Given the description of an element on the screen output the (x, y) to click on. 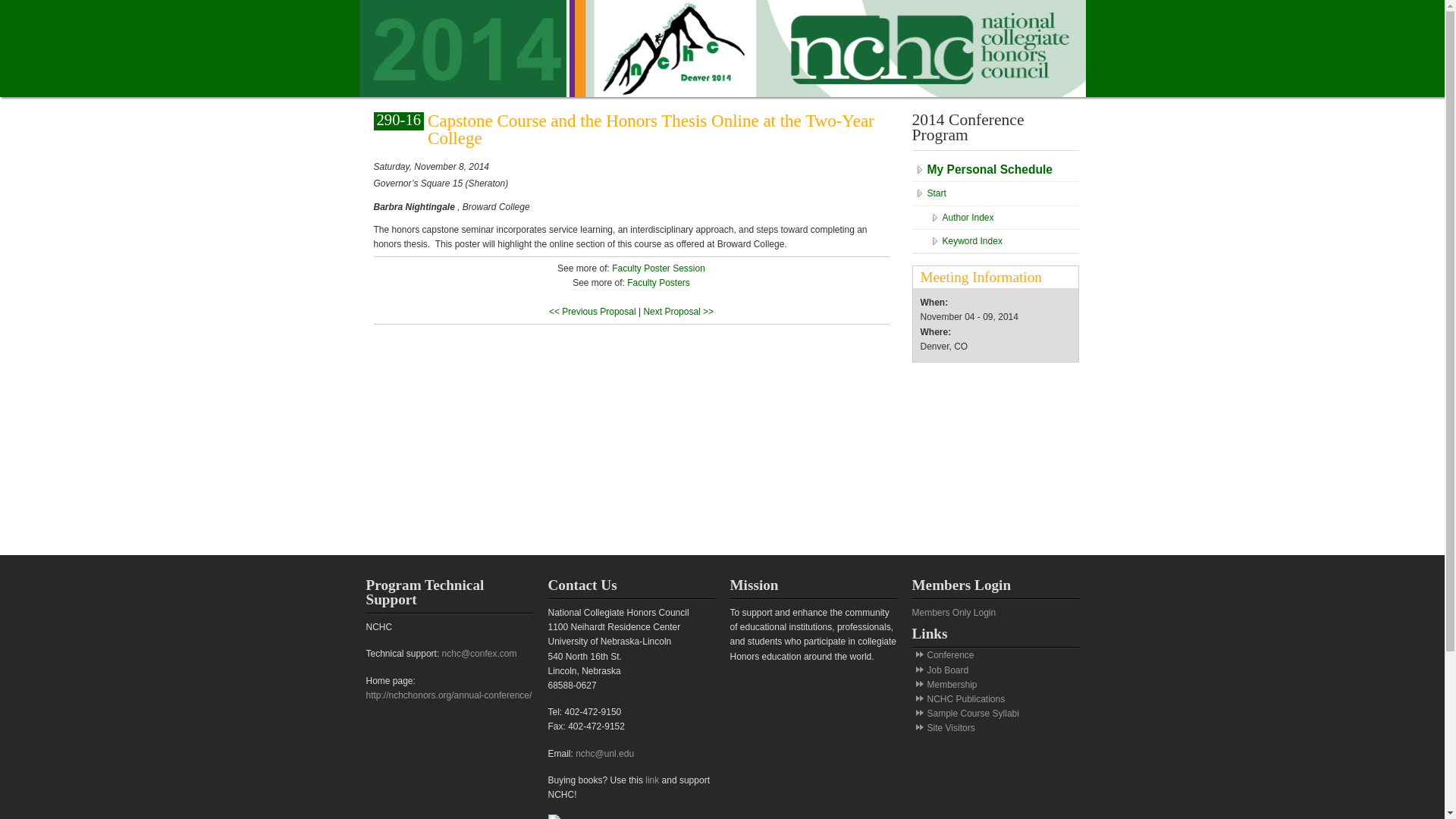
Faculty Poster Session (657, 267)
Golden Key Honour Society (986, 464)
Faculty Posters (658, 282)
Sample Course Syllabi (971, 713)
Site Visitors (950, 727)
NCHC Publications (965, 698)
Start (994, 192)
Job Board (947, 670)
Keyword Index (1002, 241)
Members Only Login (953, 612)
